Given the description of an element on the screen output the (x, y) to click on. 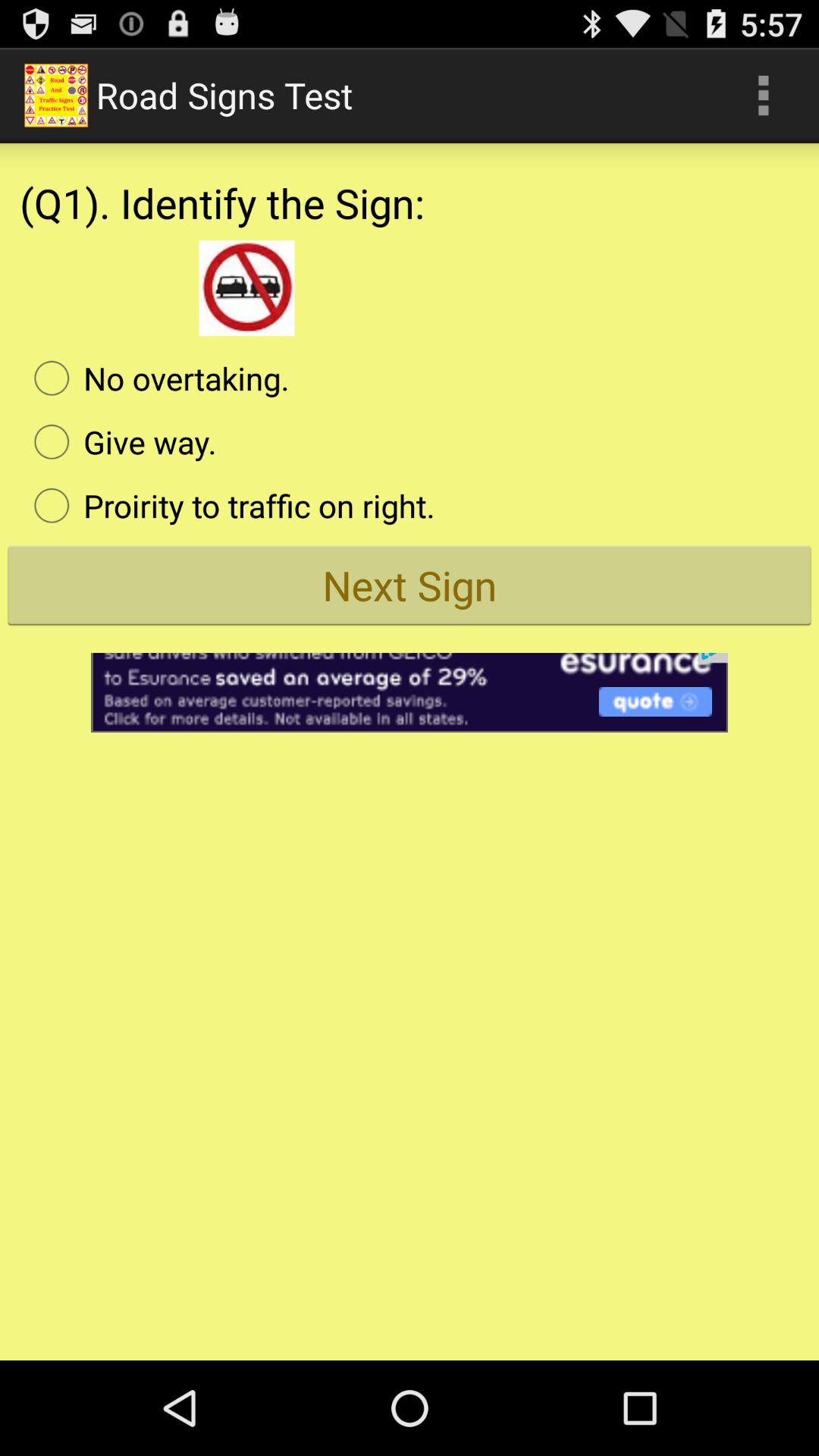
advertisement (409, 682)
